Given the description of an element on the screen output the (x, y) to click on. 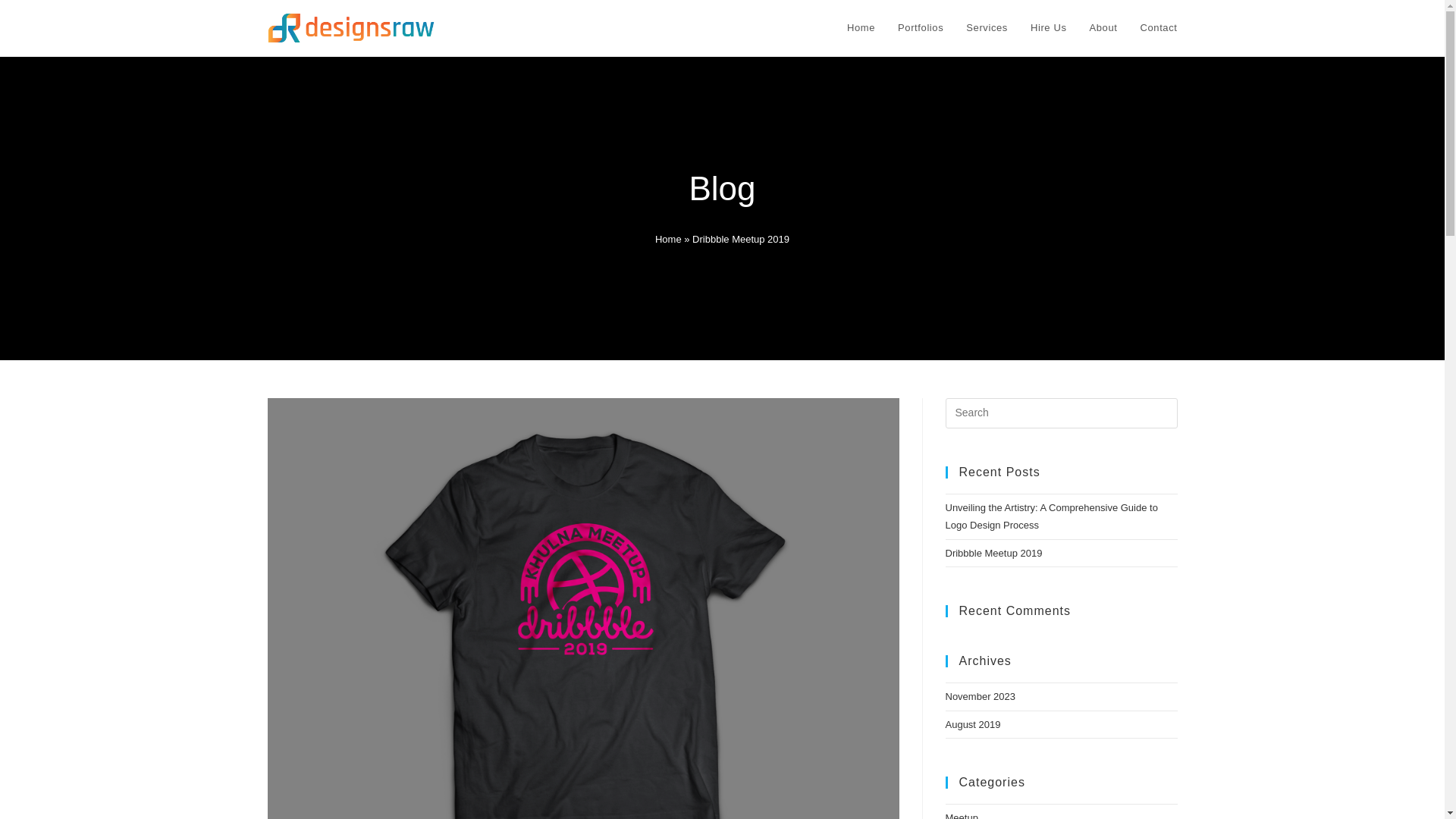
August 2019 (972, 724)
Contact (1158, 28)
Meetup (960, 815)
Services (987, 28)
About (1103, 28)
Portfolios (920, 28)
Home (668, 238)
Hire Us (1048, 28)
November 2023 (979, 696)
